Given the description of an element on the screen output the (x, y) to click on. 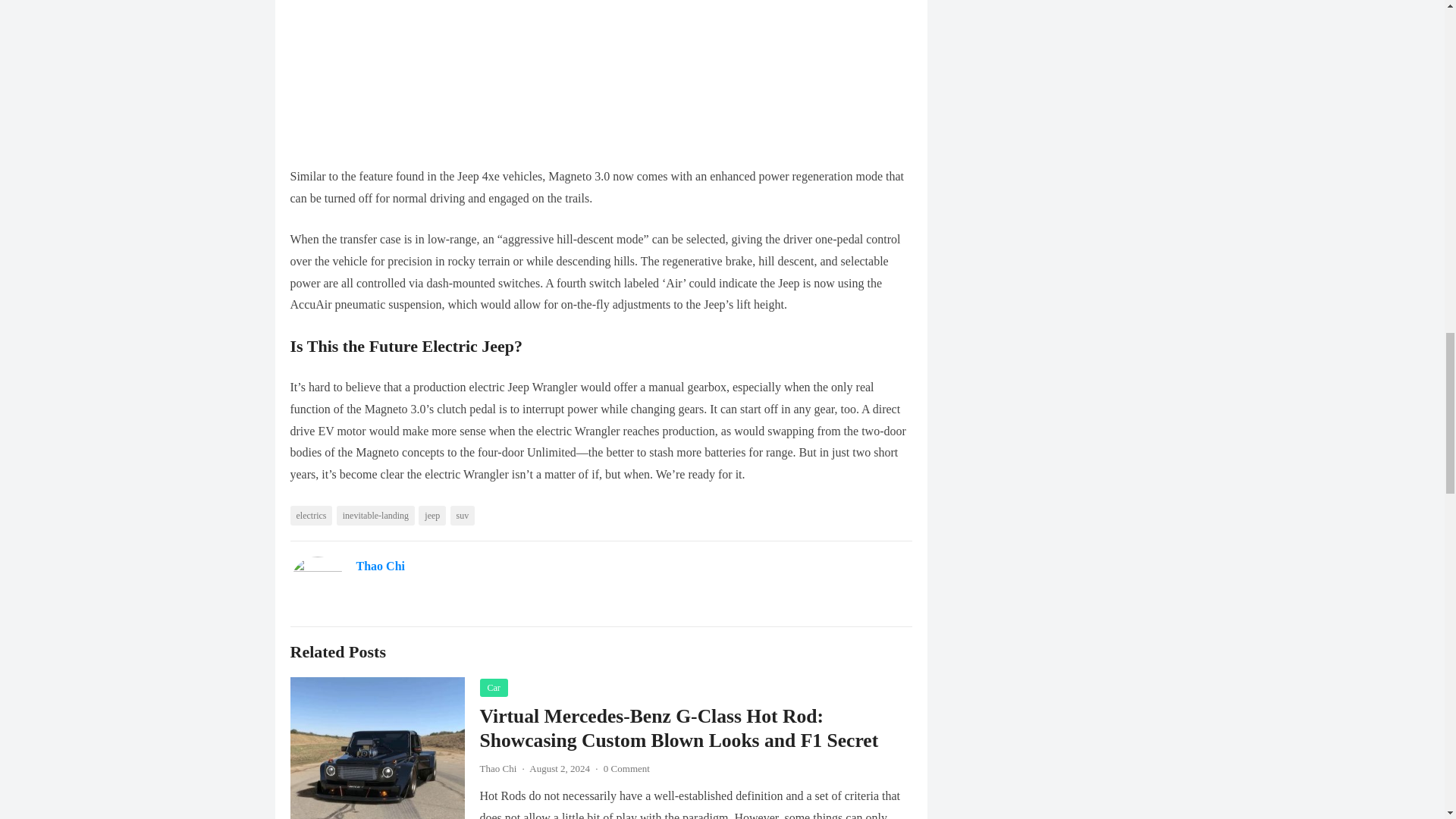
Thao Chi (380, 565)
inevitable-landing (375, 515)
Posts by Thao Chi (497, 767)
electrics (310, 515)
Thao Chi (497, 767)
0 Comment (626, 767)
suv (462, 515)
jeep (432, 515)
Car (492, 687)
